Given the description of an element on the screen output the (x, y) to click on. 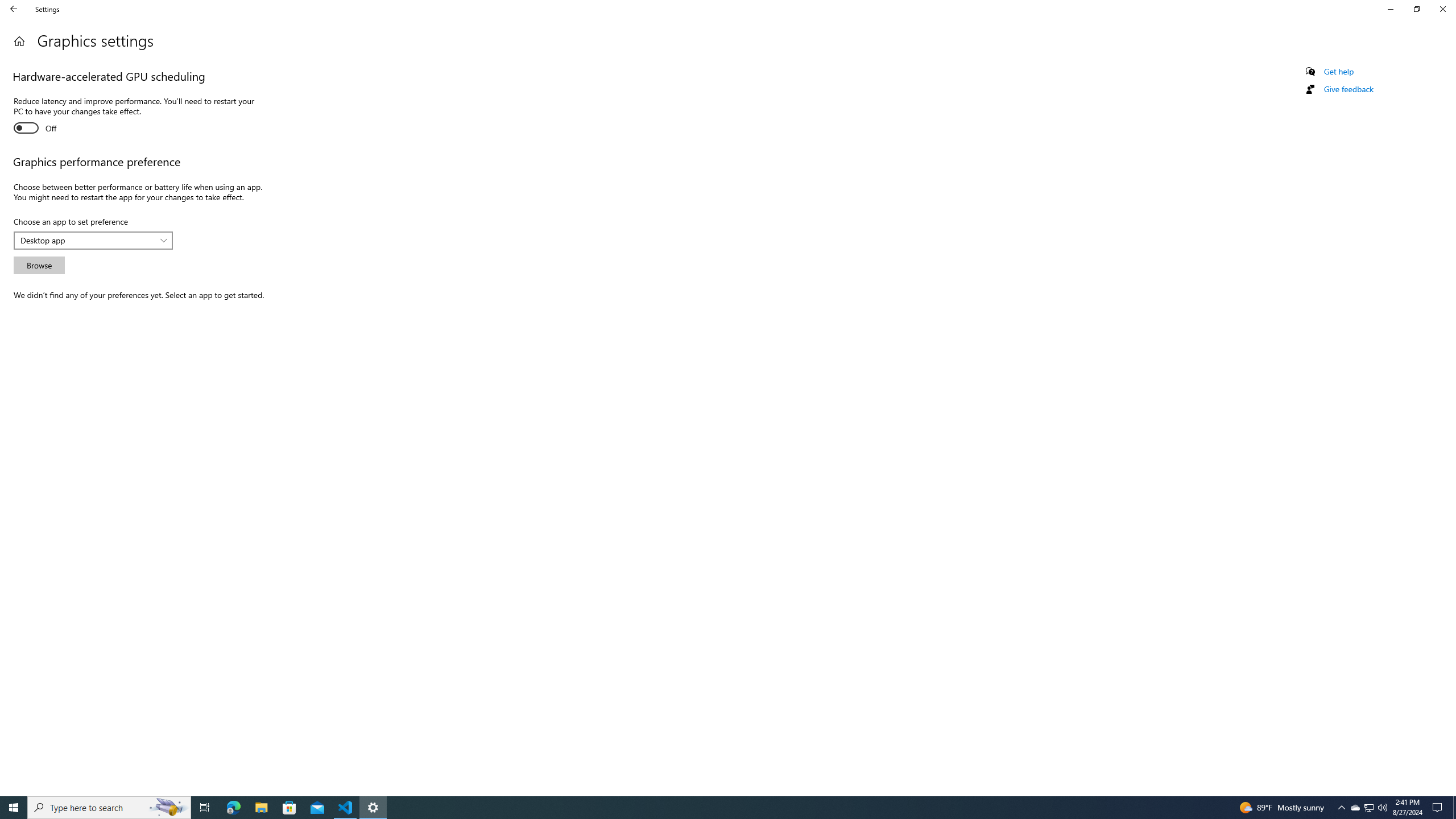
Q2790: 100% (1382, 807)
